Given the description of an element on the screen output the (x, y) to click on. 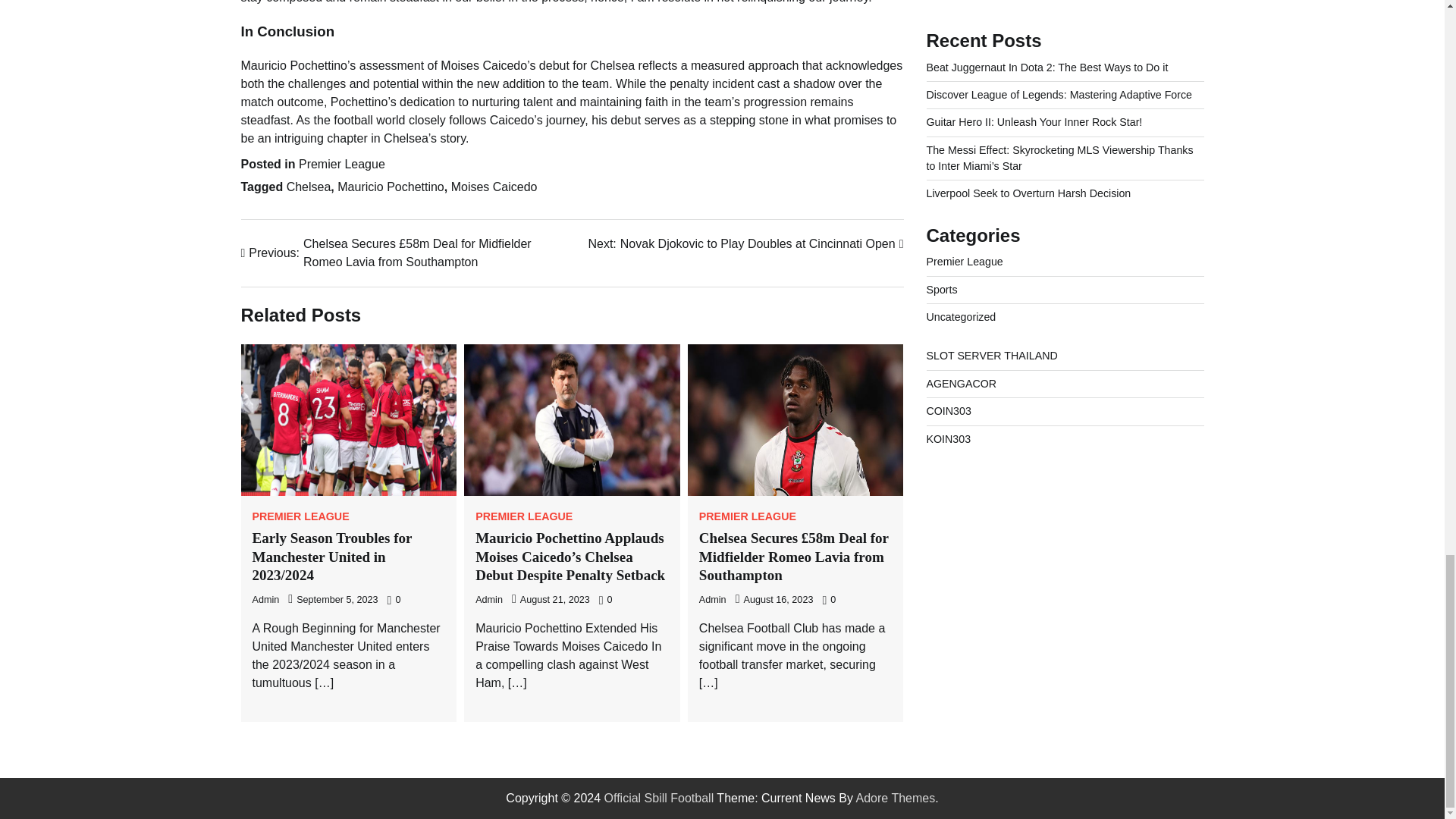
PREMIER LEAGUE (747, 516)
Mauricio Pochettino (390, 186)
PREMIER LEAGUE (745, 244)
Admin (524, 516)
Adore Themes (712, 599)
Admin (896, 797)
Moises Caicedo (265, 599)
PREMIER LEAGUE (494, 186)
Chelsea (300, 516)
Admin (308, 186)
Official Sbill Football (489, 599)
Premier League (659, 797)
